Given the description of an element on the screen output the (x, y) to click on. 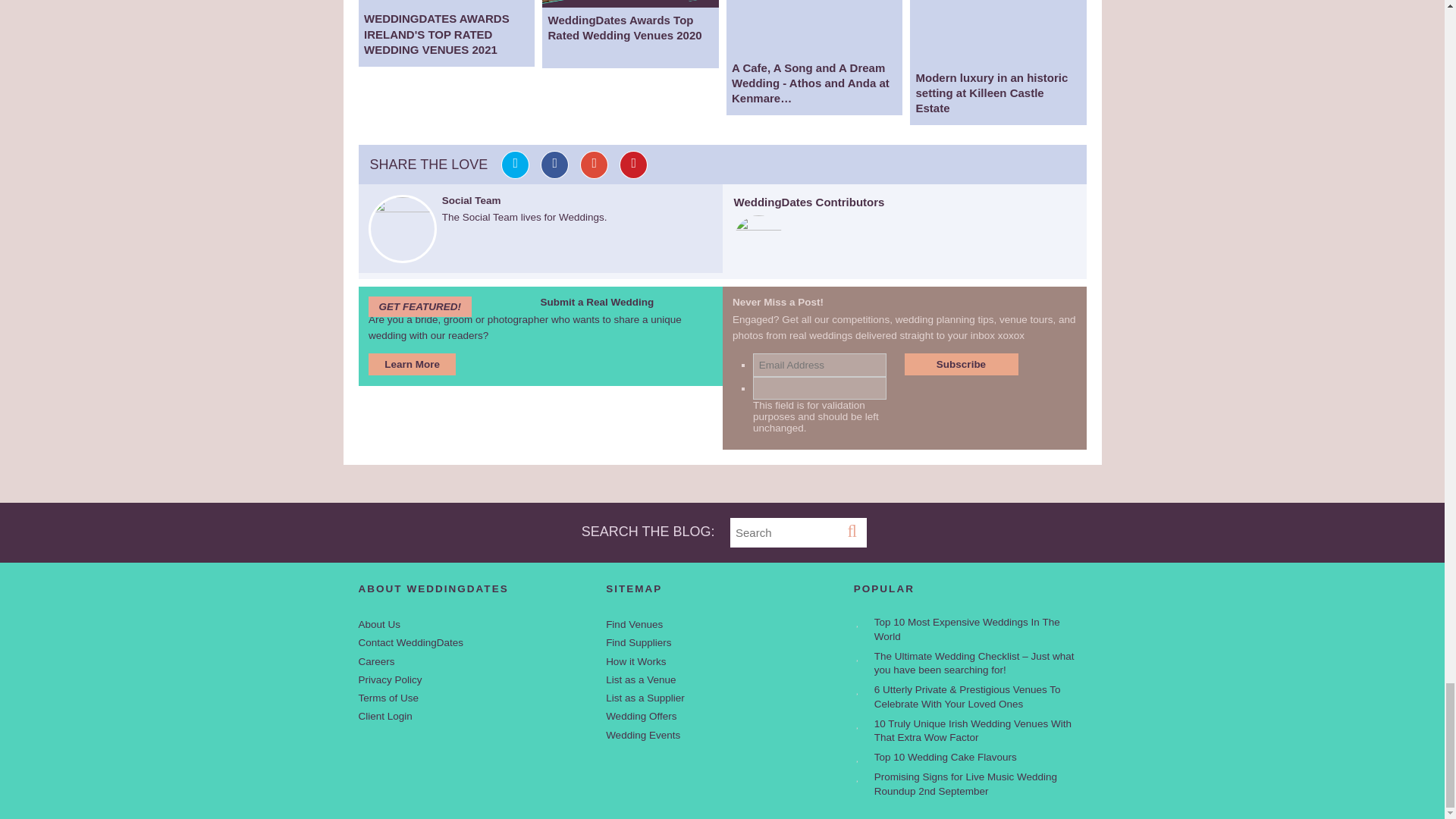
WeddingDates Awards Top Rated Wedding Venues 2020 (630, 3)
WEDDINGDATES AWARDS IRELAND'S TOP RATED WEDDING VENUES 2021 (446, 2)
Subscribe (960, 363)
Ciara Crossan (758, 226)
